Given the description of an element on the screen output the (x, y) to click on. 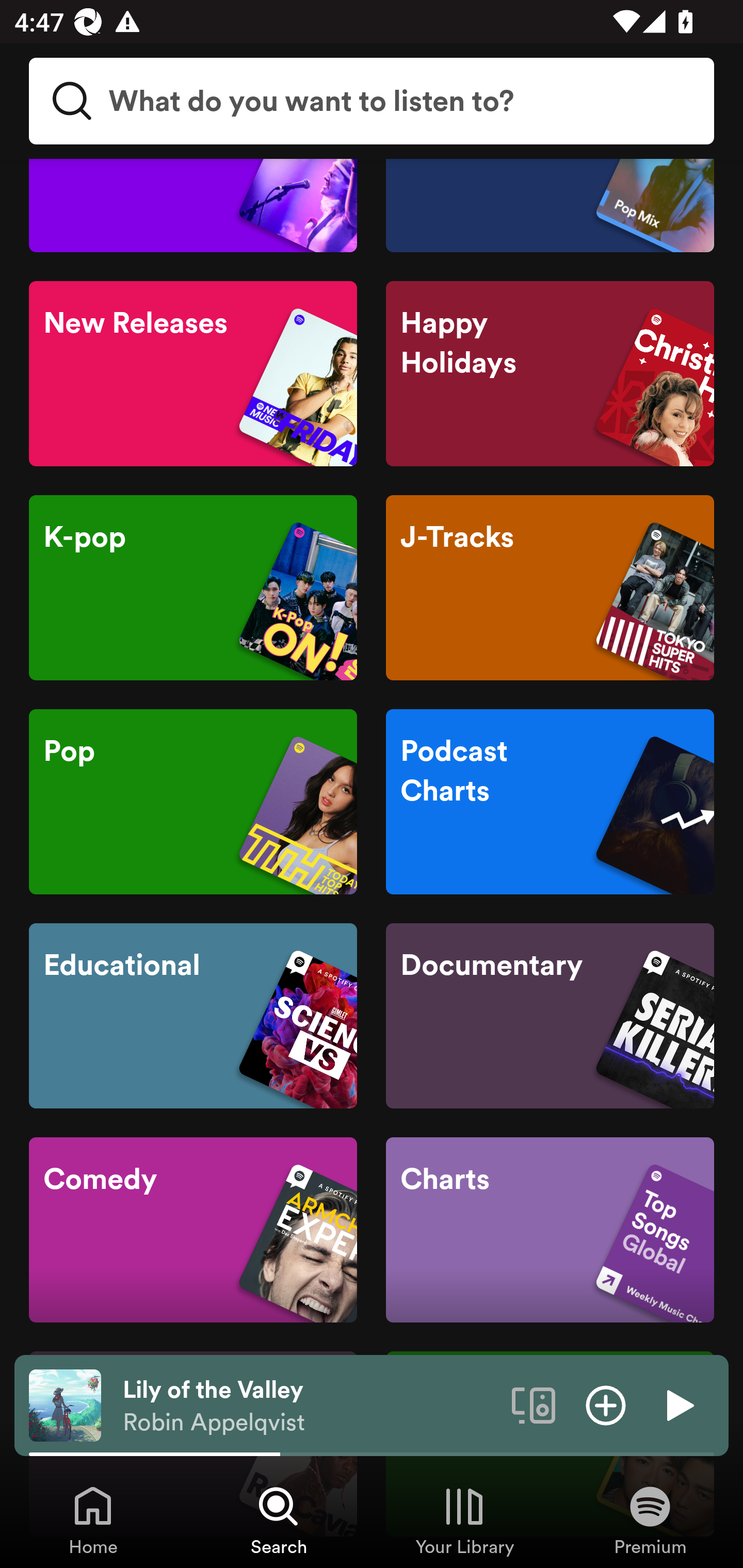
Live Events (192, 205)
Made For You (549, 205)
New Releases (192, 372)
Happy Holidays (549, 372)
K-pop (192, 587)
J-Tracks (549, 587)
Pop (192, 800)
Podcast Charts (549, 800)
Educational (192, 1015)
Documentary (549, 1015)
Comedy (192, 1228)
Charts (549, 1228)
Lily of the Valley Robin Appelqvist (309, 1405)
The cover art of the currently playing track (64, 1404)
Connect to a device. Opens the devices menu (533, 1404)
Add item (605, 1404)
Play (677, 1404)
Home, Tab 1 of 4 Home Home (92, 1519)
Search, Tab 2 of 4 Search Search (278, 1519)
Your Library, Tab 3 of 4 Your Library Your Library (464, 1519)
Premium, Tab 4 of 4 Premium Premium (650, 1519)
